Given the description of an element on the screen output the (x, y) to click on. 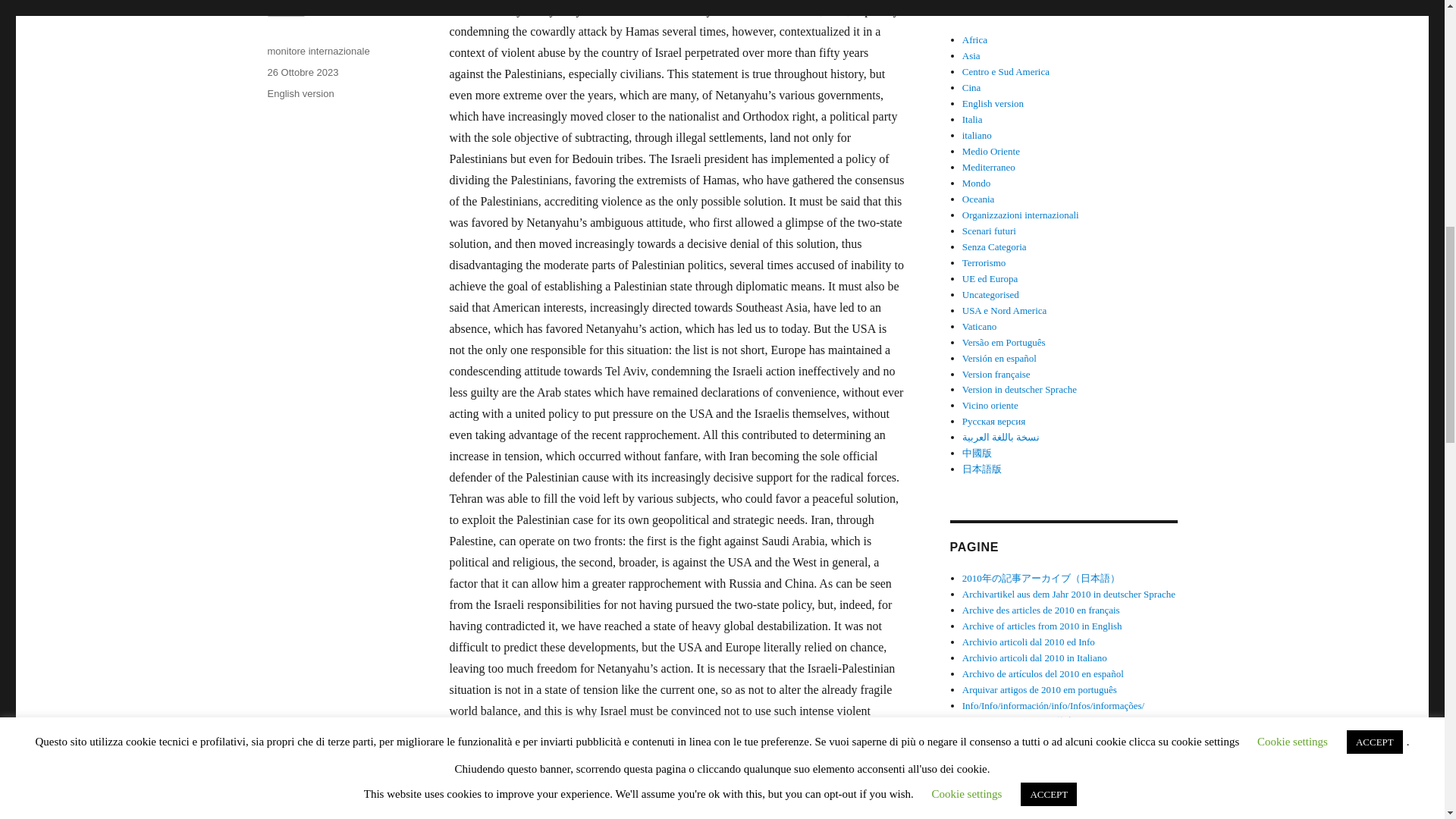
Vaticano (978, 326)
Senza Categoria (994, 246)
Scenari futuri (989, 230)
UE ed Europa (989, 278)
USA e Nord America (1004, 310)
monitore internazionale (317, 50)
italiano (976, 134)
Centro e Sud America (1005, 71)
Italia (972, 119)
Version in deutscher Sprache (1019, 389)
Oceania (978, 198)
Vicino oriente (989, 405)
Medio Oriente (991, 151)
Organizzazioni internazionali (1020, 214)
Africa (974, 39)
